Given the description of an element on the screen output the (x, y) to click on. 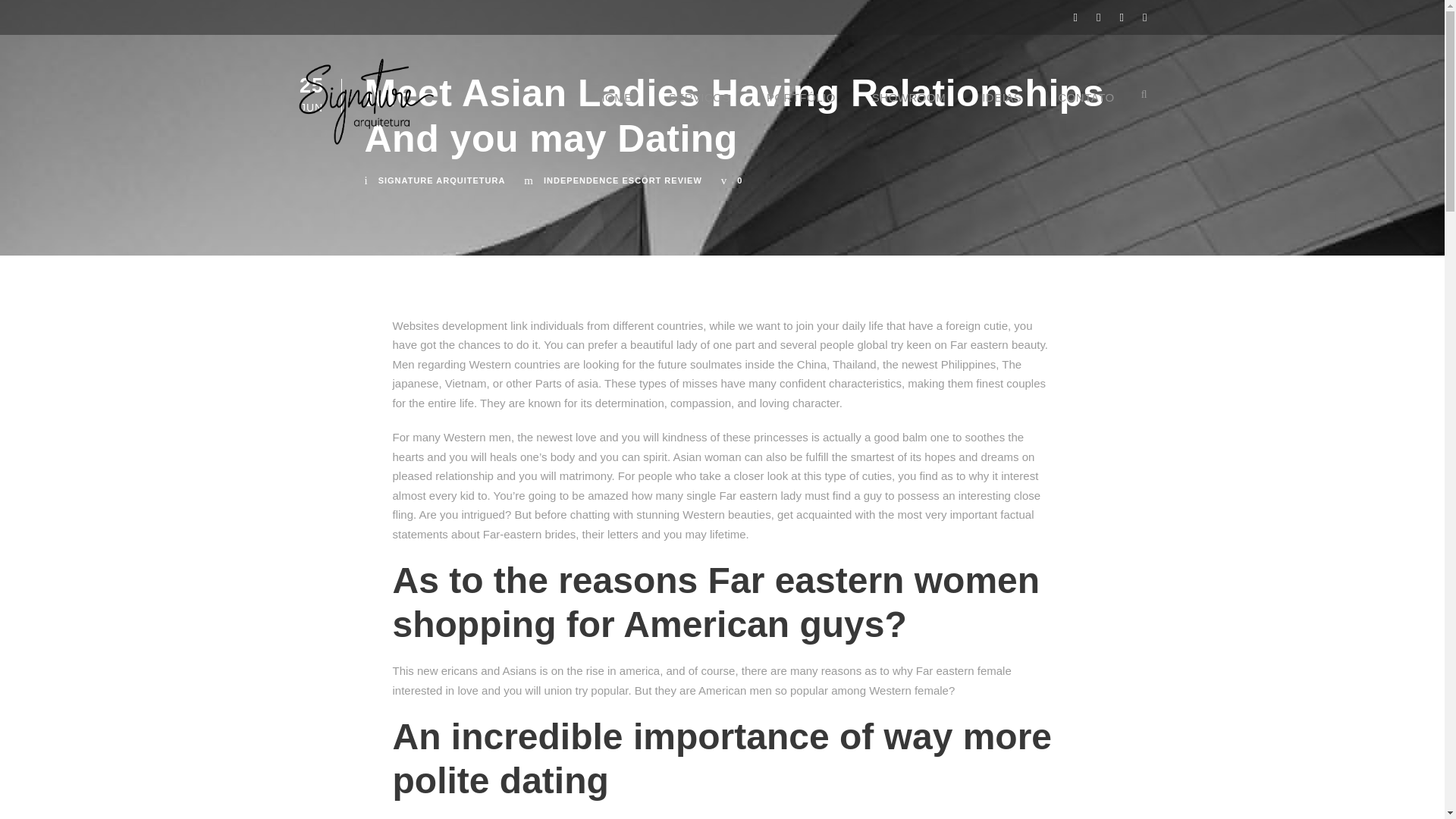
Posts by Signature Arquitetura (441, 180)
IDEIAS (1001, 107)
SIGNATURE ARQUITETURA (441, 180)
CONTATO (1085, 107)
INDEPENDENCE ESCORT REVIEW (622, 180)
SHOWROOM (908, 107)
